Given the description of an element on the screen output the (x, y) to click on. 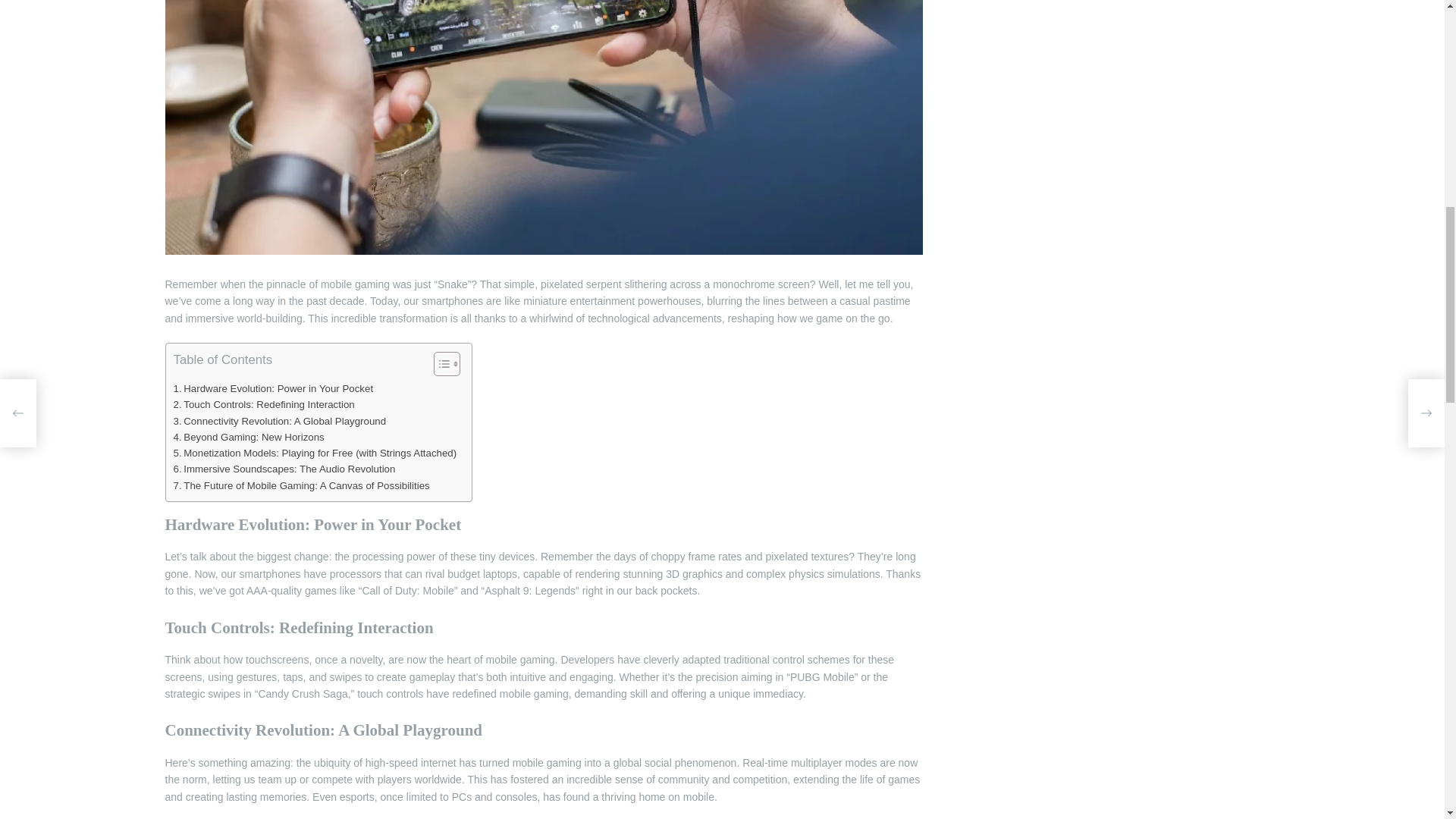
Immersive Soundscapes: The Audio Revolution (283, 468)
Hardware Evolution: Power in Your Pocket (272, 388)
Connectivity Revolution: A Global Playground (279, 421)
The Future of Mobile Gaming: A Canvas of Possibilities (301, 485)
Touch Controls: Redefining Interaction (263, 404)
Beyond Gaming: New Horizons (248, 437)
